Given the description of an element on the screen output the (x, y) to click on. 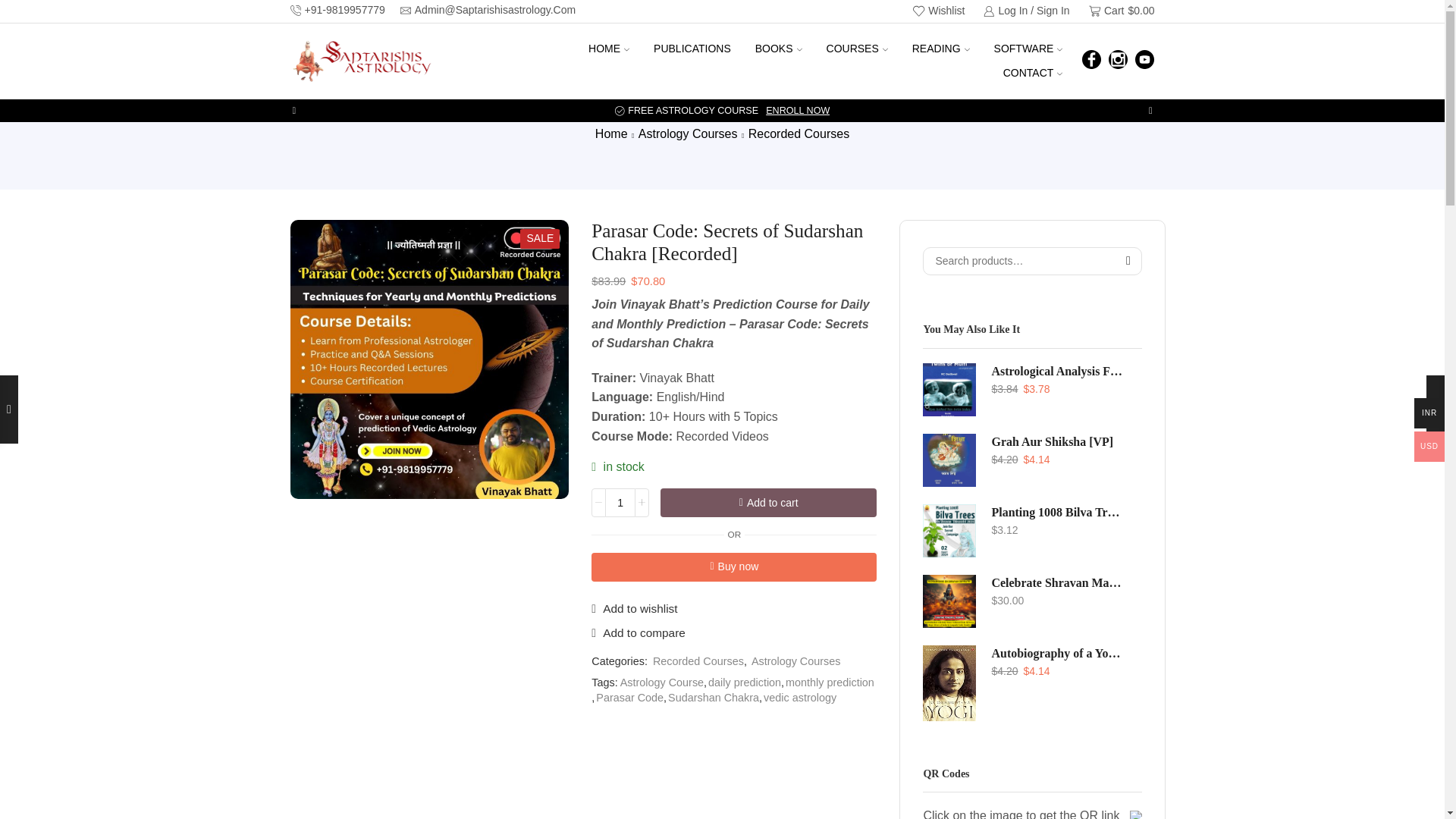
HOME (608, 48)
PUBLICATIONS (692, 48)
COURSES (857, 48)
Wishlist (938, 11)
Planting 1008 Bilva Trees on Shravan Shivaratri 2024 (949, 530)
Log in (978, 214)
Planting 1008 Bilva Trees on Shravan Shivaratri 2024 (1056, 512)
1 (619, 502)
BOOKS (778, 48)
Parasar Code Secrets of Sudarshan Chakra (429, 359)
